Given the description of an element on the screen output the (x, y) to click on. 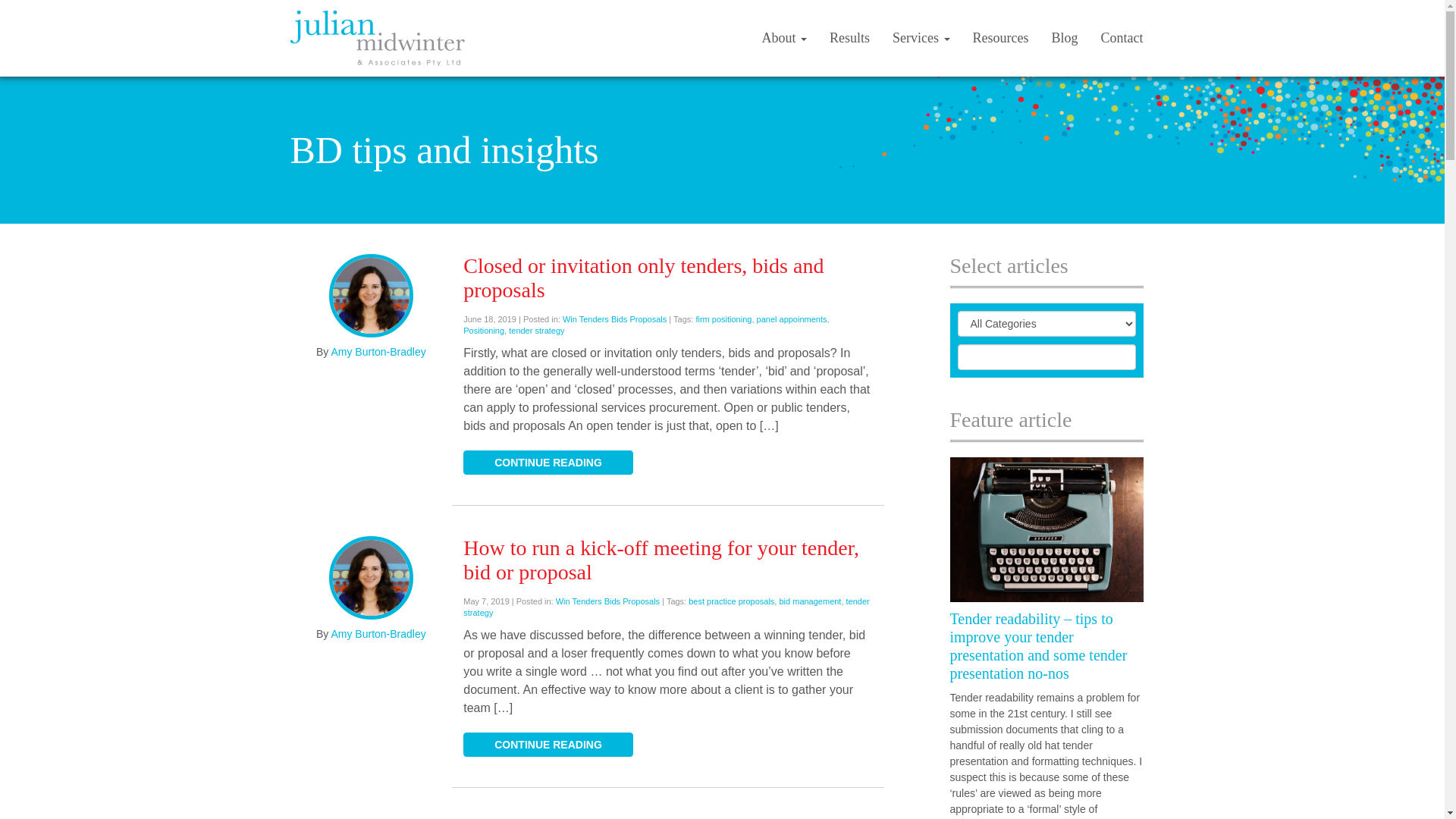
tender strategy Element type: text (666, 606)
Positioning Element type: text (483, 330)
Results Element type: text (849, 37)
Win Tenders Bids Proposals Element type: text (607, 600)
Closed or invitation only tenders, bids and proposals Element type: text (643, 277)
Services Element type: text (920, 37)
panel appoinments Element type: text (791, 318)
firm positioning Element type: text (723, 318)
Win Tenders Bids Proposals Element type: text (614, 318)
best practice proposals Element type: text (731, 600)
Blog Element type: text (1063, 37)
Amy Burton-Bradley Element type: text (377, 351)
Contact Element type: text (1121, 37)
About Element type: text (784, 37)
Resources Element type: text (1000, 37)
CONTINUE READING Element type: text (548, 462)
bid management Element type: text (809, 600)
tender strategy Element type: text (536, 330)
Amy Burton-Bradley Element type: text (377, 633)
CONTINUE READING Element type: text (548, 744)
